Given the description of an element on the screen output the (x, y) to click on. 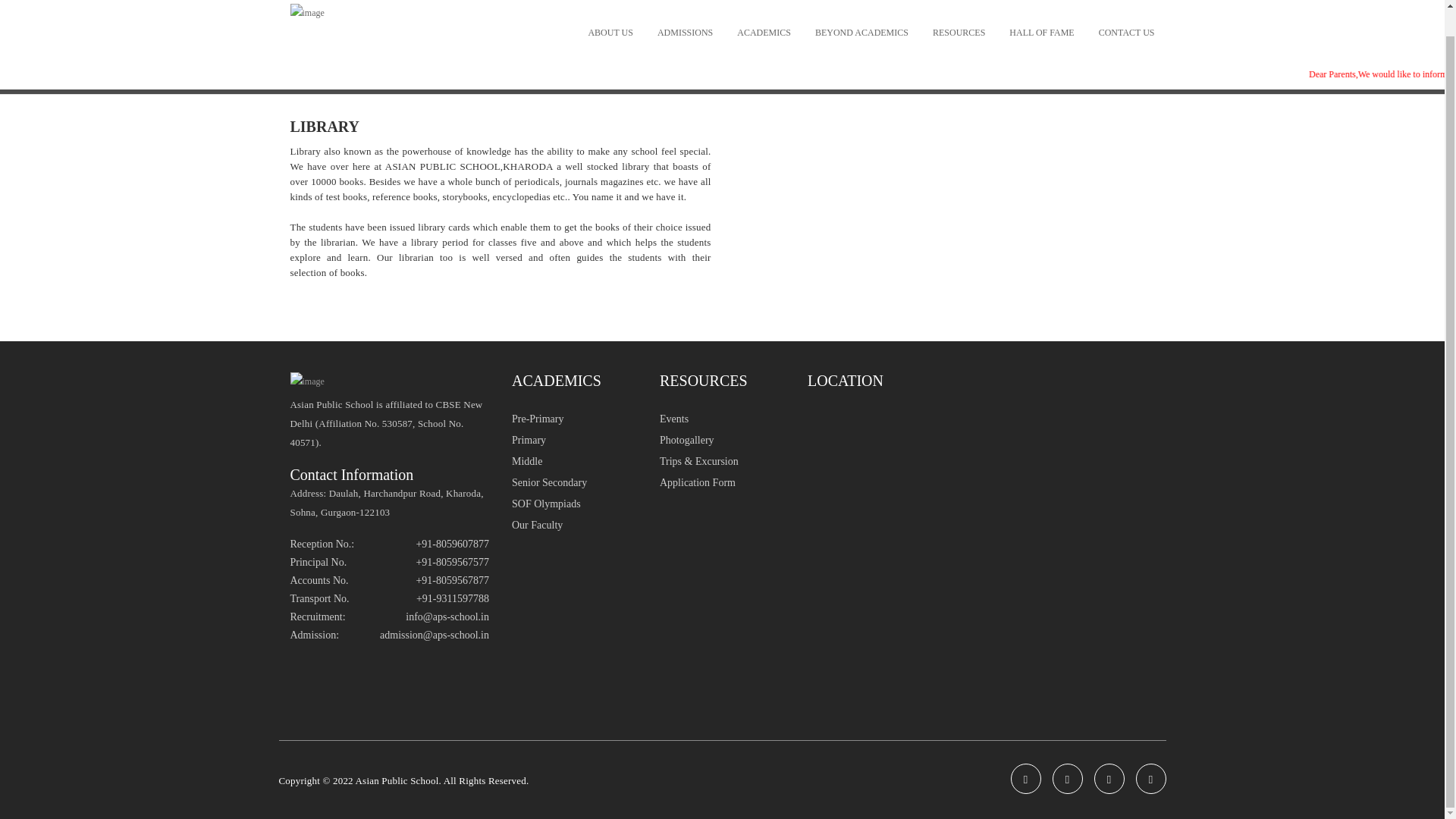
ADMISSIONS (685, 32)
ABOUT US (609, 32)
ACADEMICS (763, 32)
BEYOND ACADEMICS (861, 32)
